Given the description of an element on the screen output the (x, y) to click on. 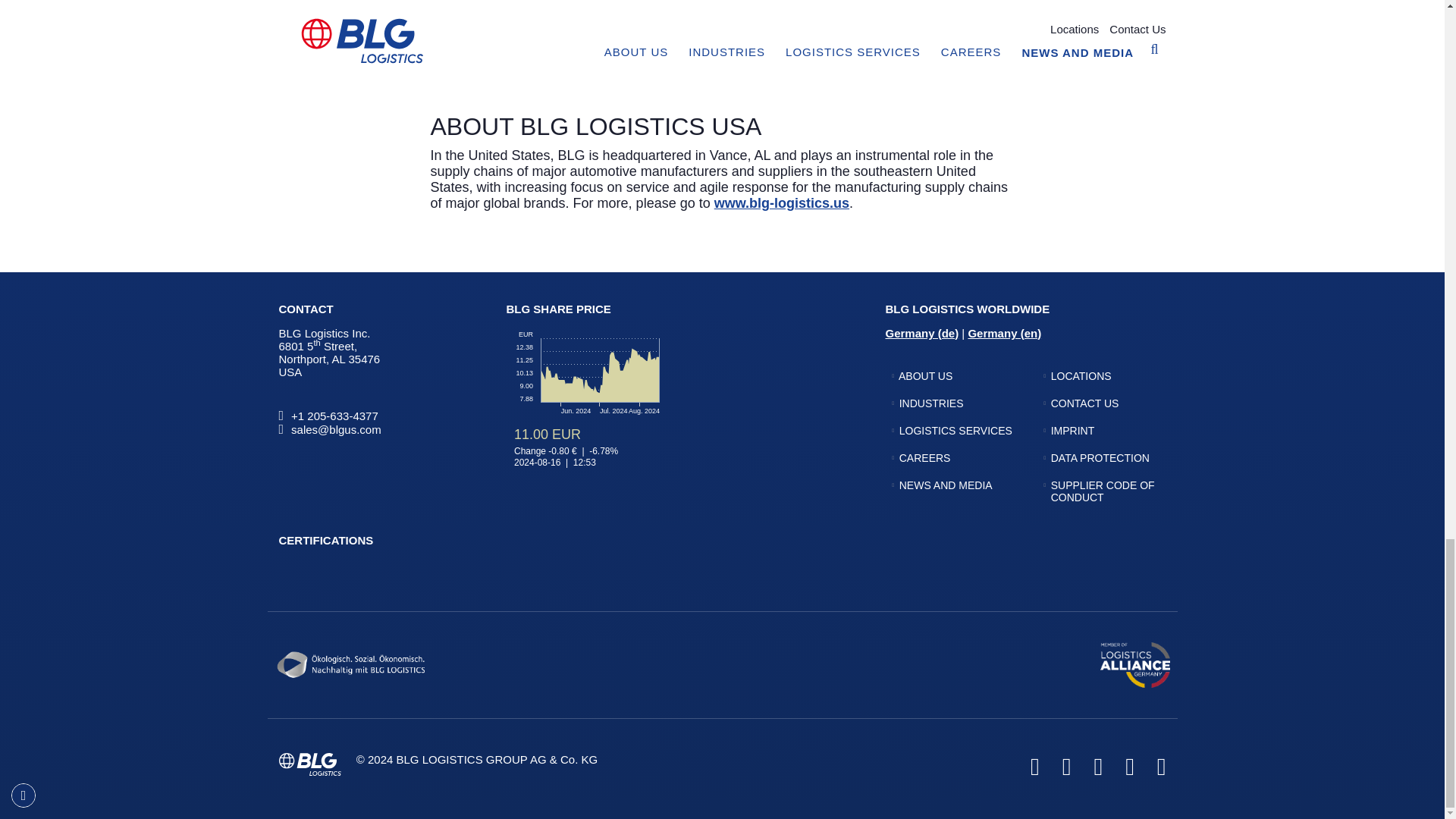
www.blg-logistics.us (781, 202)
Logistics Services (955, 430)
Careers (924, 458)
News and Media (945, 485)
Data protection (1100, 458)
www.blg-logistics.com (918, 66)
About Us (925, 376)
Supplier Code of Conduct (1102, 491)
Imprint (1072, 430)
Locations (1081, 376)
